Given the description of an element on the screen output the (x, y) to click on. 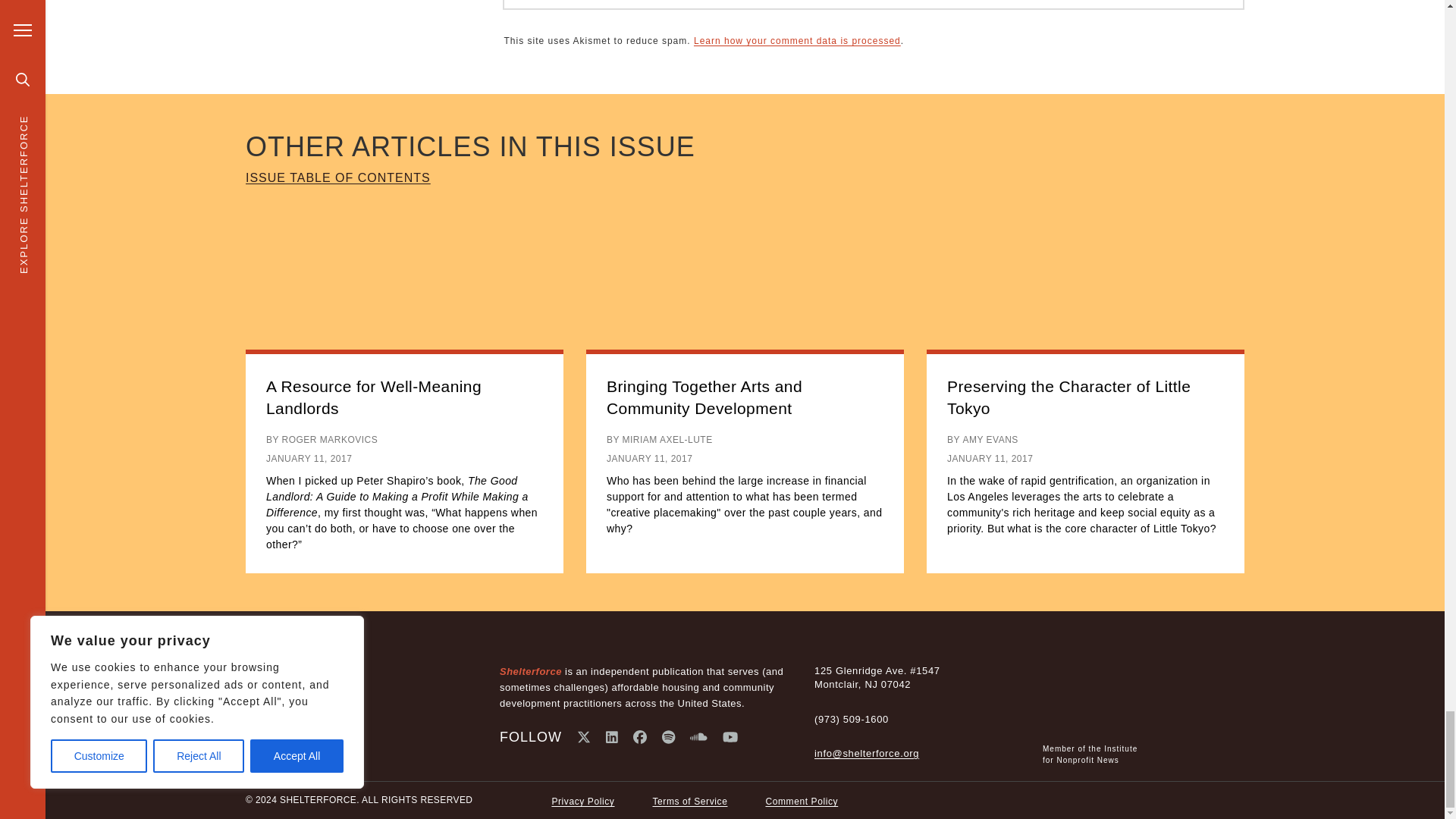
YouTube (730, 736)
Facebook (639, 736)
Spotify (668, 736)
Soundcloud (698, 736)
Twitter (583, 736)
